Given the description of an element on the screen output the (x, y) to click on. 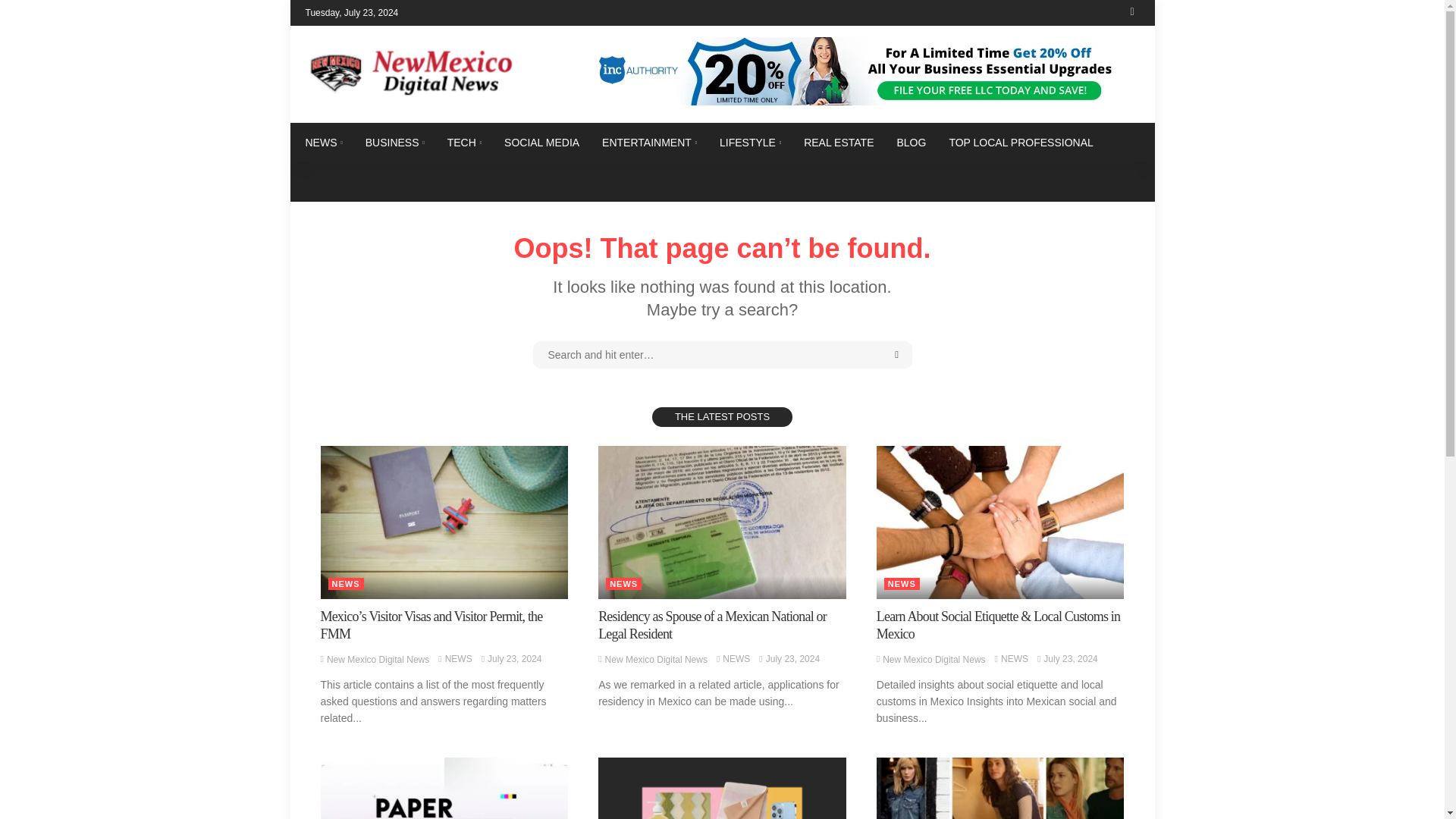
NEWS (458, 658)
LIFESTYLE (749, 142)
Residency as Spouse of a Mexican National or Legal Resident (721, 521)
NEWS (344, 583)
ENTERTAINMENT (649, 142)
NEWS (328, 142)
BUSINESS (394, 142)
NEWS (623, 583)
SOCIAL MEDIA (542, 142)
search (1131, 12)
search for: (721, 354)
NEWS (735, 658)
Residency as Spouse of a Mexican National or Legal Resident (712, 625)
TECH (464, 142)
